Given the description of an element on the screen output the (x, y) to click on. 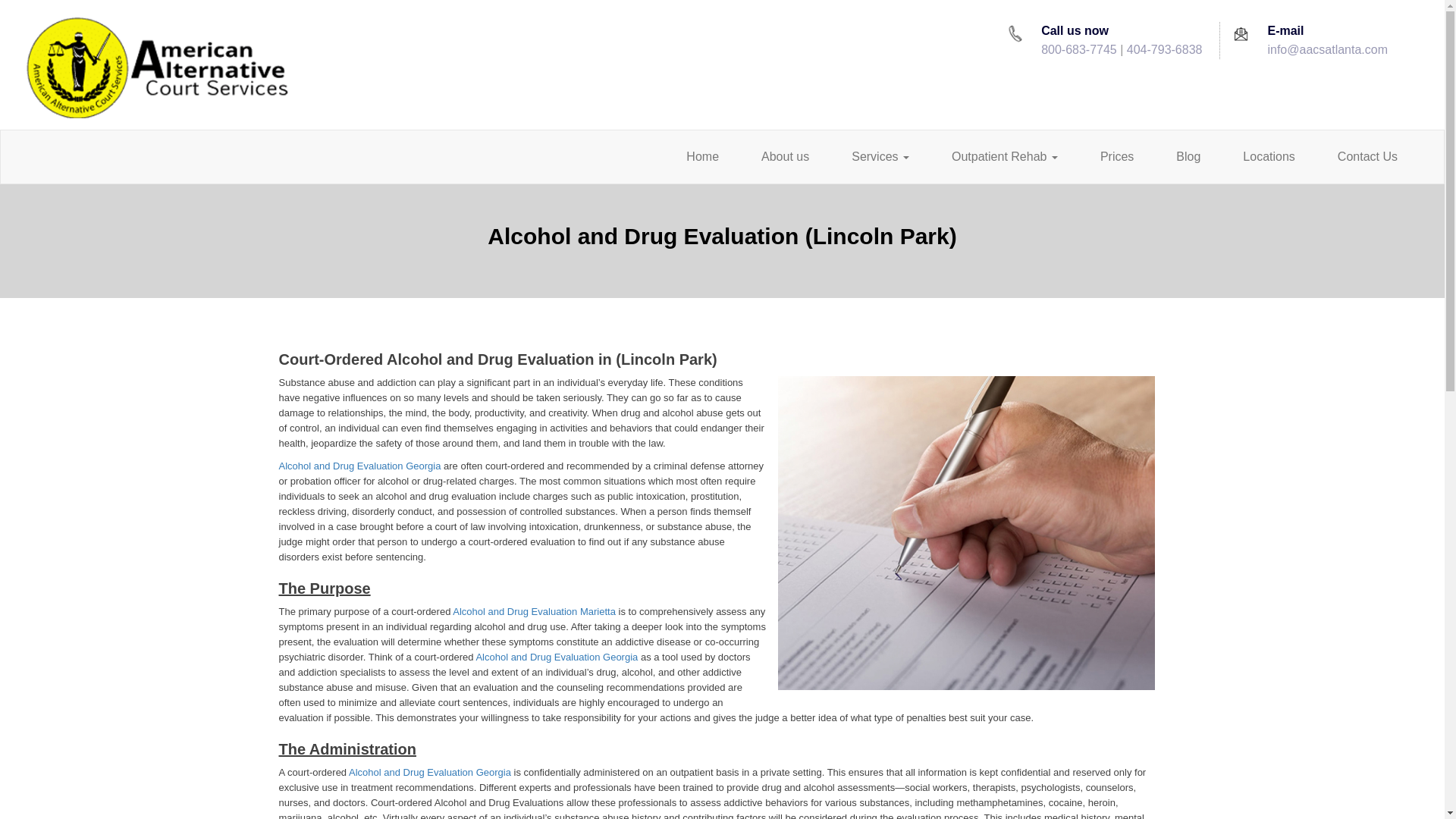
About us (784, 157)
404-793-6838 (1164, 49)
800-683-7745 (1078, 49)
Services (879, 157)
Alcohol and Drug Evaluation Lincoln Park (966, 538)
Home (702, 157)
